Given the description of an element on the screen output the (x, y) to click on. 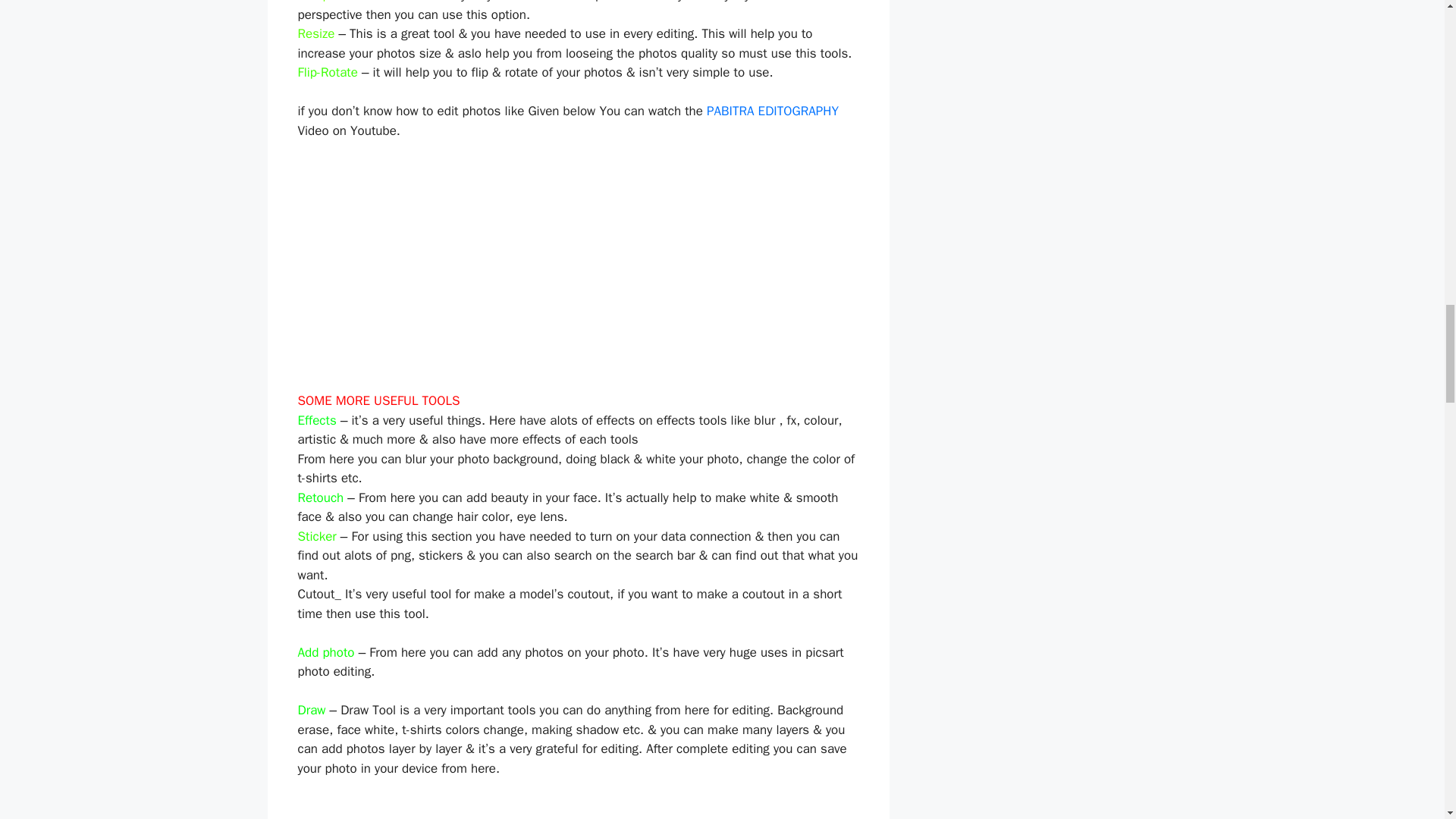
PABITRA EDITOGRAPHY (772, 110)
Advertisement (578, 808)
Advertisement (578, 265)
